Given the description of an element on the screen output the (x, y) to click on. 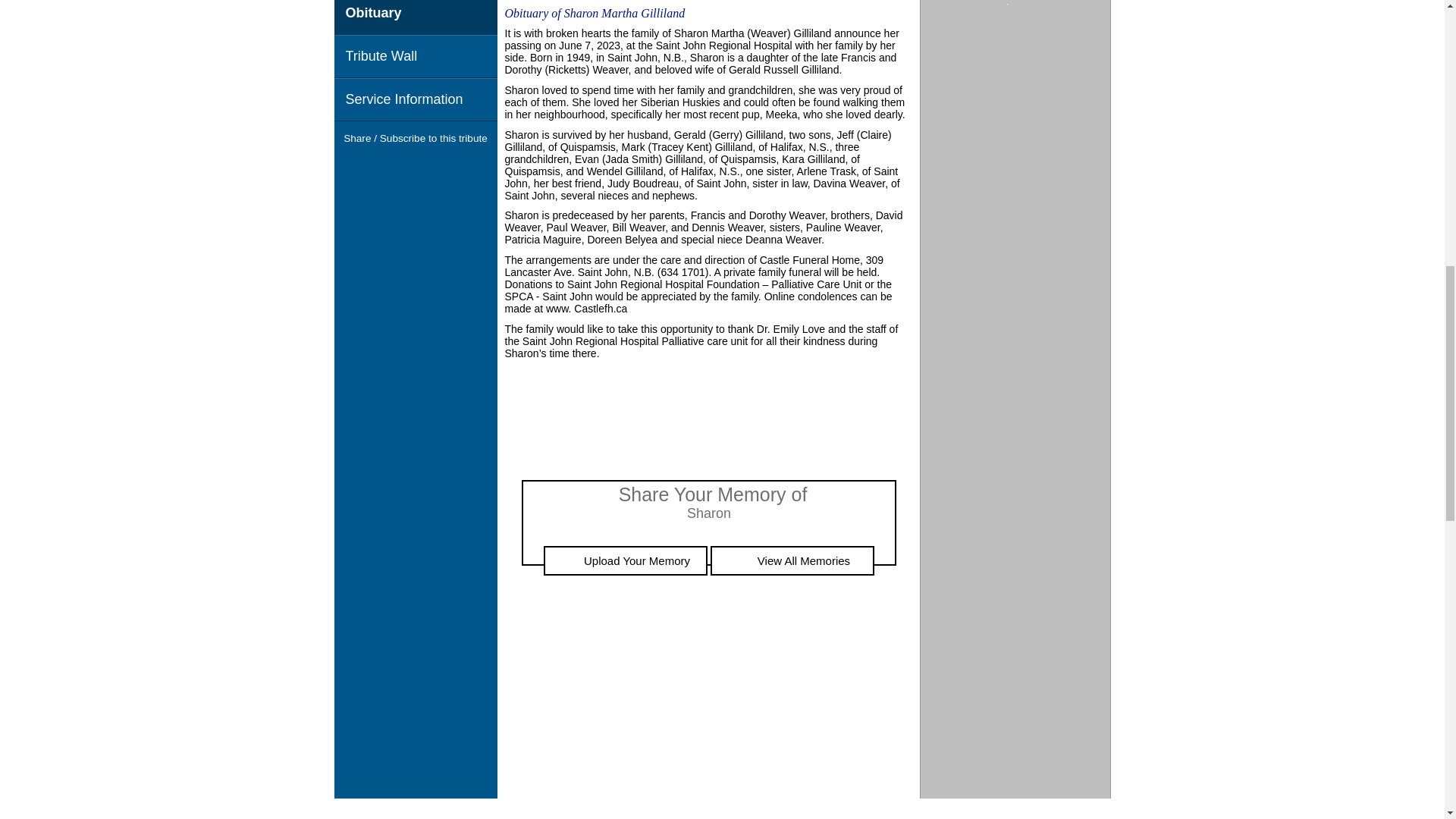
Obituary (414, 17)
Service Information (414, 99)
Facebook (387, 167)
PRINT (882, 3)
Print (882, 3)
View All Memories (792, 560)
Twitter (415, 167)
Tribute Wall (414, 56)
Upload Your Memory (625, 560)
Receive Notifications (442, 167)
